Given the description of an element on the screen output the (x, y) to click on. 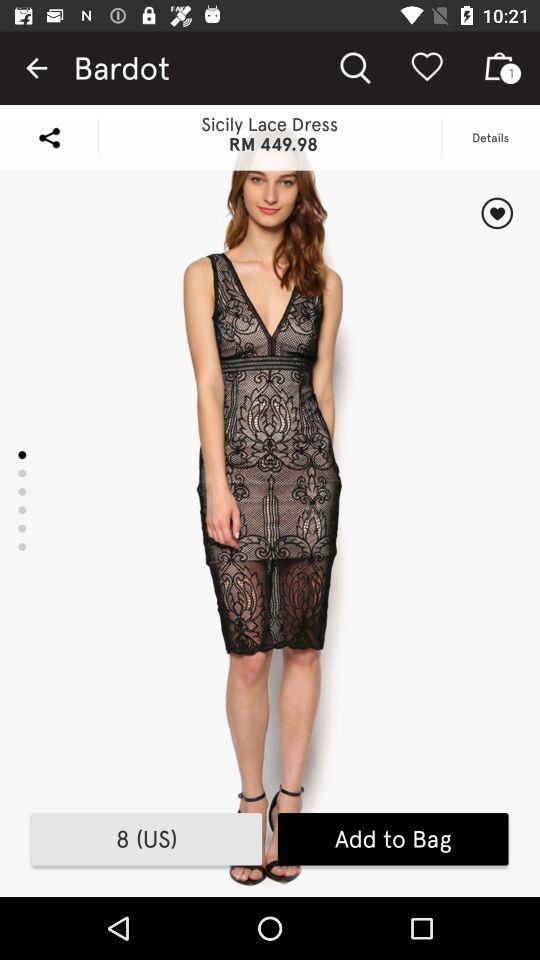
choose 8 (us) item (146, 839)
